Given the description of an element on the screen output the (x, y) to click on. 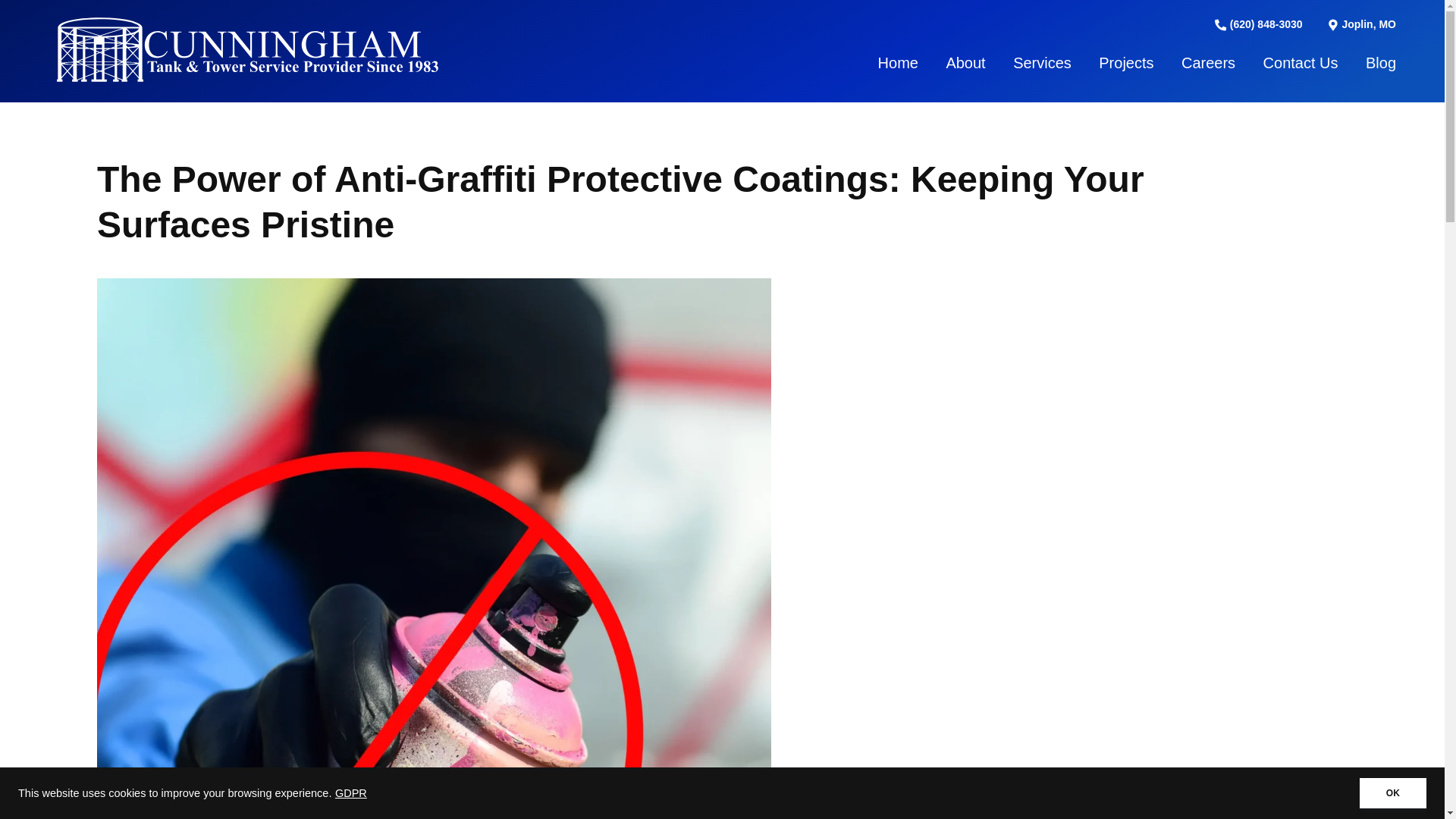
Joplin, MO (1361, 24)
Services (1042, 62)
Blog (1380, 62)
Cunningham Tank and Tower Services (250, 49)
Home (897, 62)
About (964, 62)
OK (1392, 793)
Contact Us (1300, 62)
Projects (1126, 62)
Careers (1207, 62)
GDPR (350, 793)
